Given the description of an element on the screen output the (x, y) to click on. 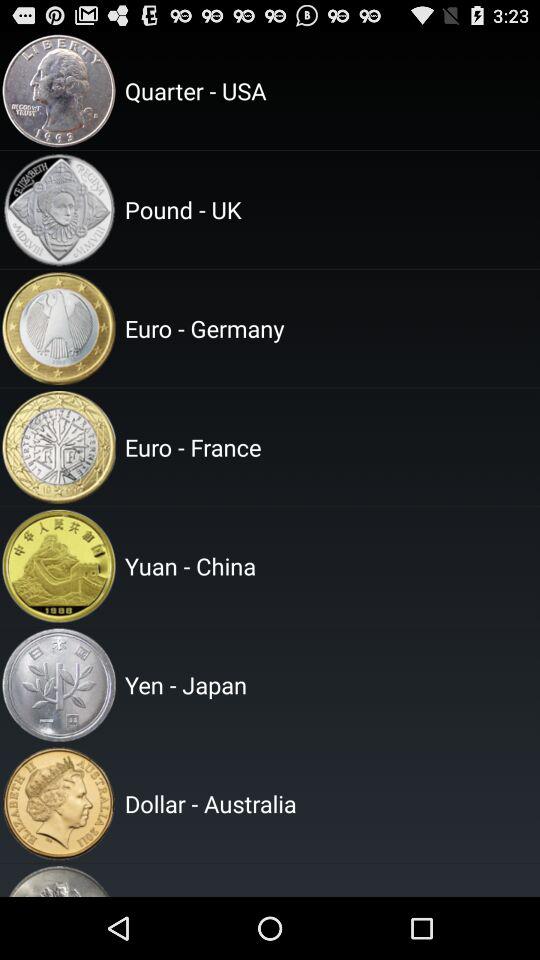
tap the euro - france app (329, 447)
